Given the description of an element on the screen output the (x, y) to click on. 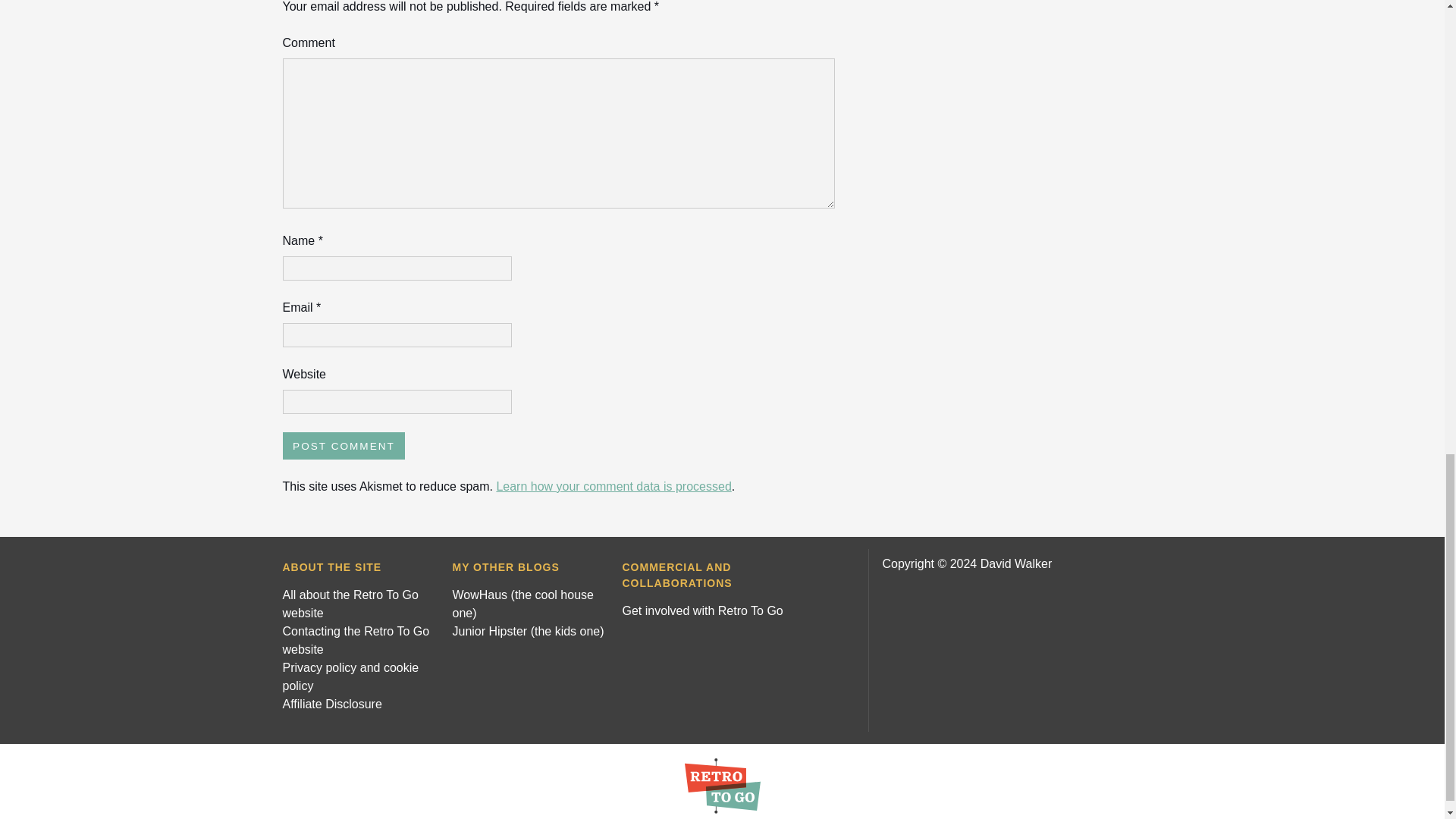
Post Comment (343, 445)
Post Comment (343, 445)
